Given the description of an element on the screen output the (x, y) to click on. 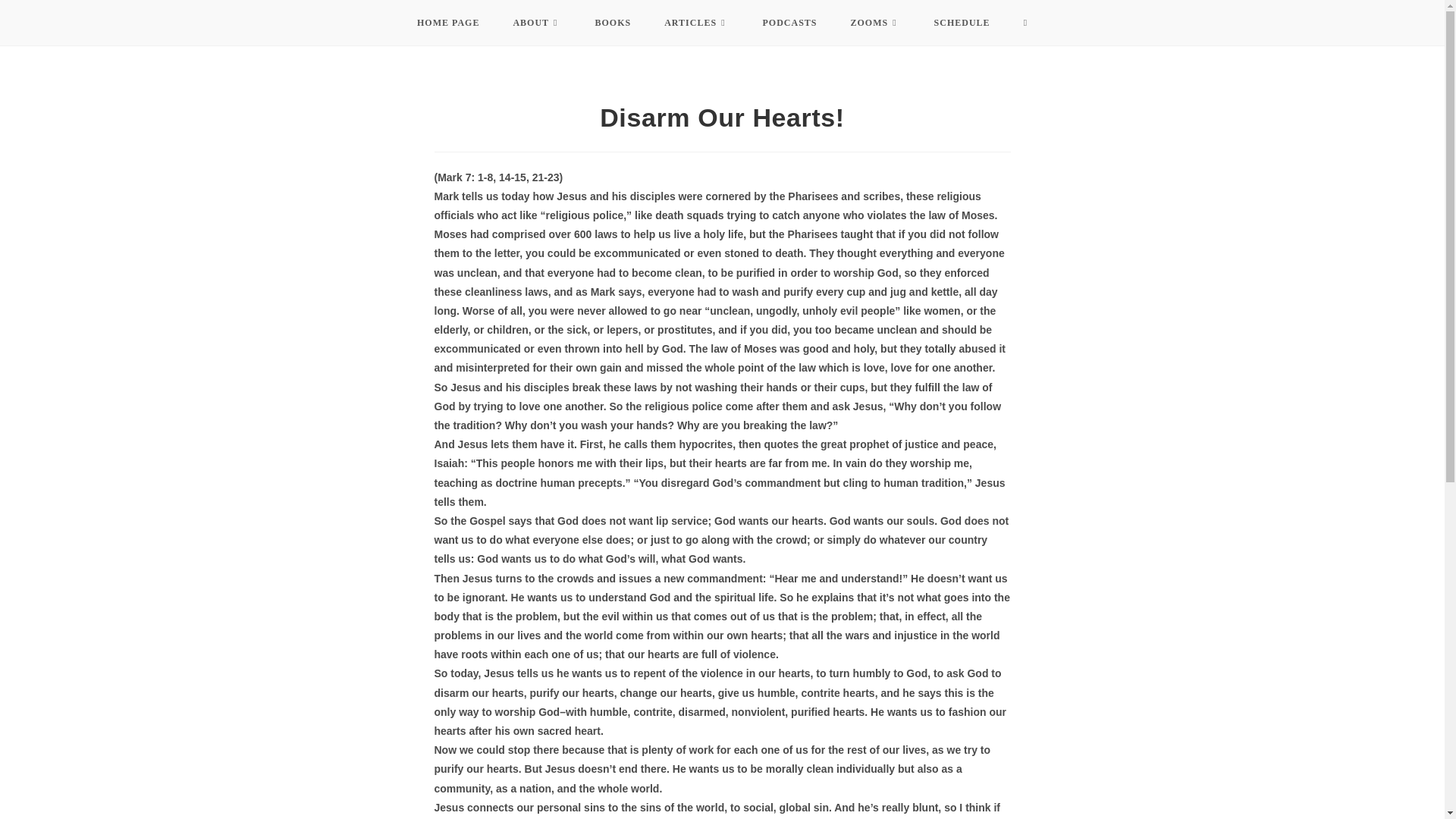
PODCASTS (789, 22)
SCHEDULE (962, 22)
ZOOMS (875, 22)
HOME PAGE (448, 22)
ARTICLES (696, 22)
ABOUT (537, 22)
BOOKS (612, 22)
